Given the description of an element on the screen output the (x, y) to click on. 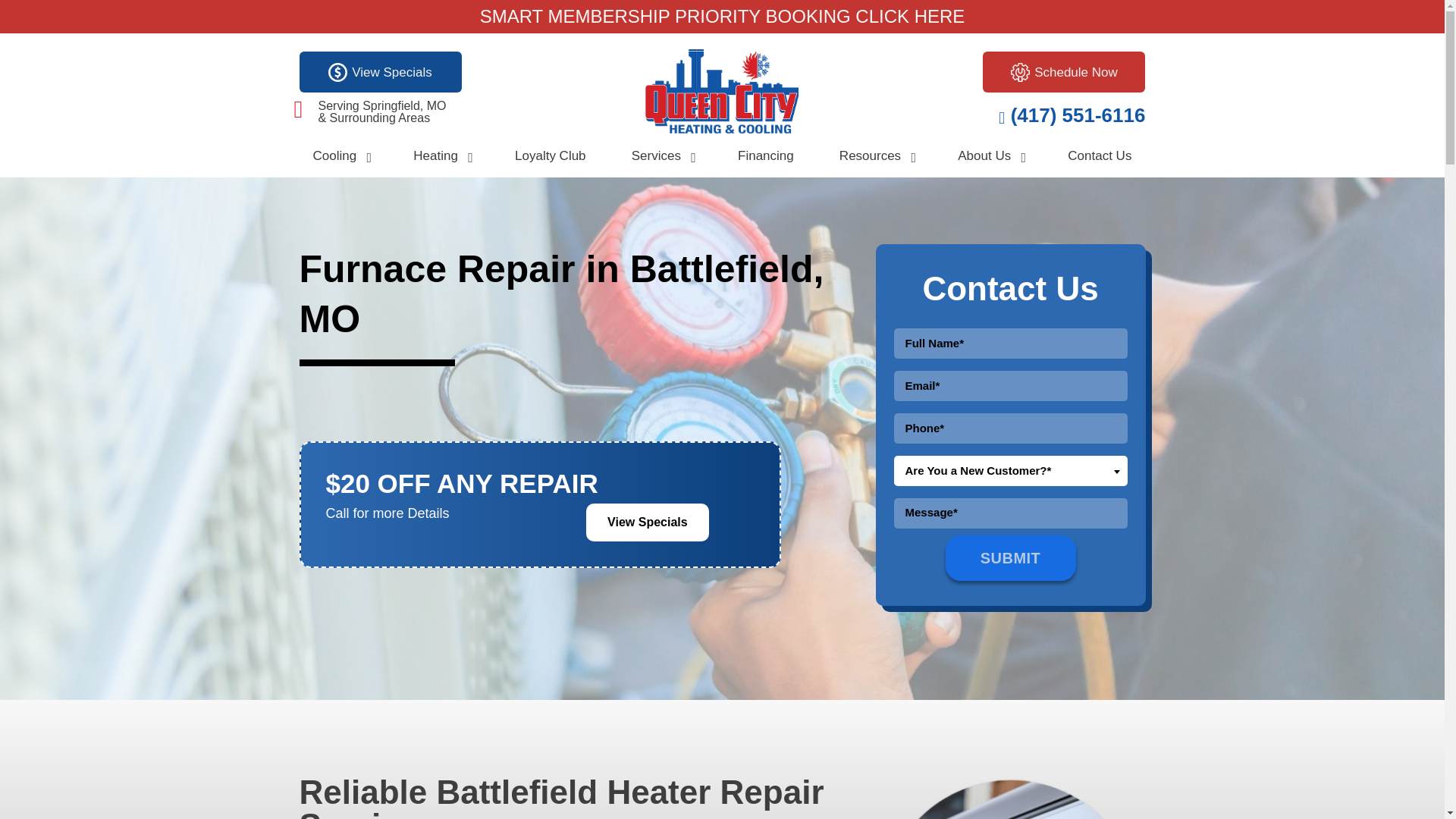
Submit (1009, 557)
